Given the description of an element on the screen output the (x, y) to click on. 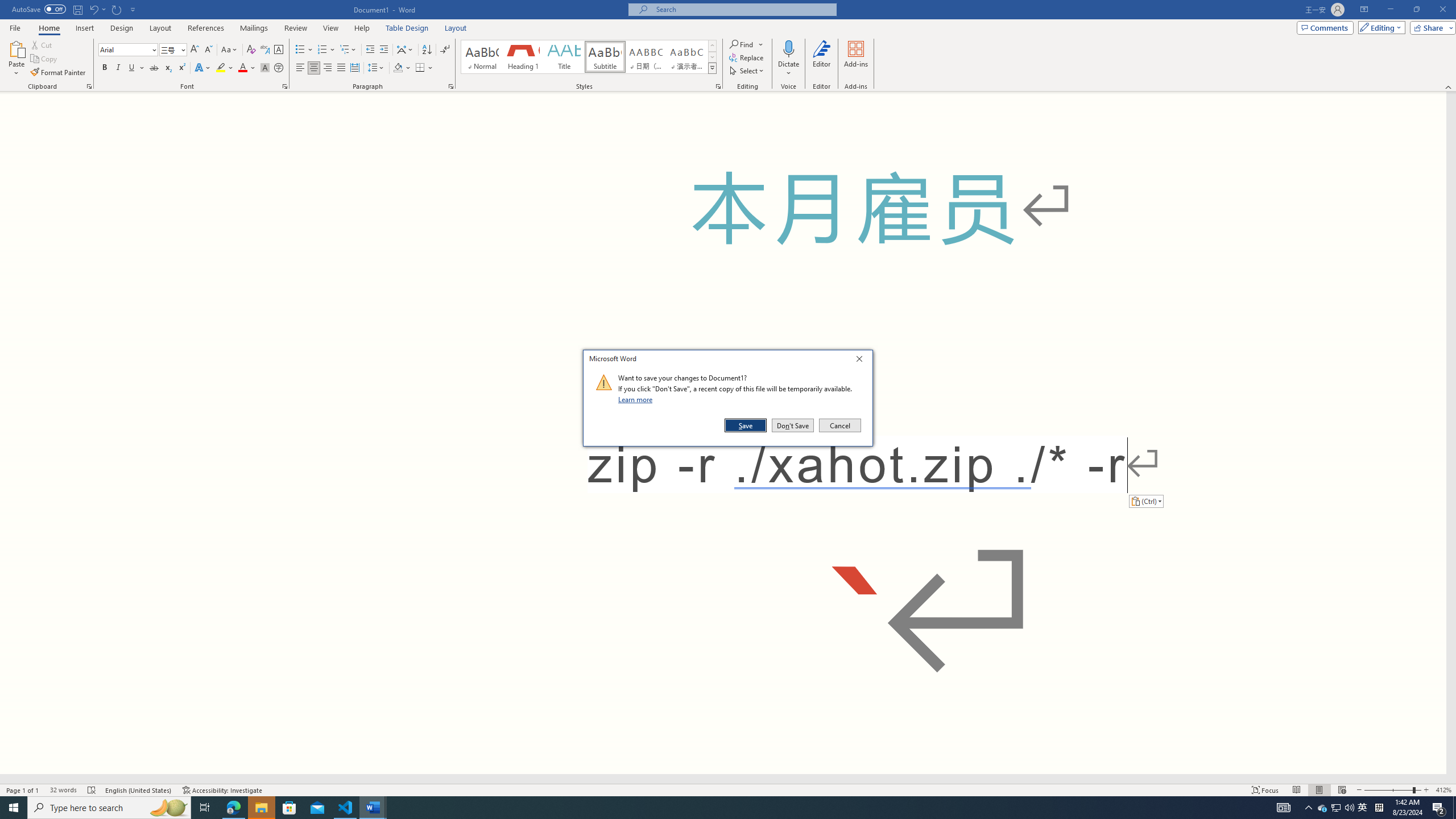
Customize Quick Access Toolbar (133, 9)
Underline (136, 67)
Text Effects and Typography (202, 67)
Running applications (700, 807)
Change Case (229, 49)
Select (747, 69)
Show desktop (1454, 807)
Grow Font (193, 49)
Undo Paste (92, 9)
Comments (1325, 27)
Decrease Indent (1362, 807)
More Options (370, 49)
